Given the description of an element on the screen output the (x, y) to click on. 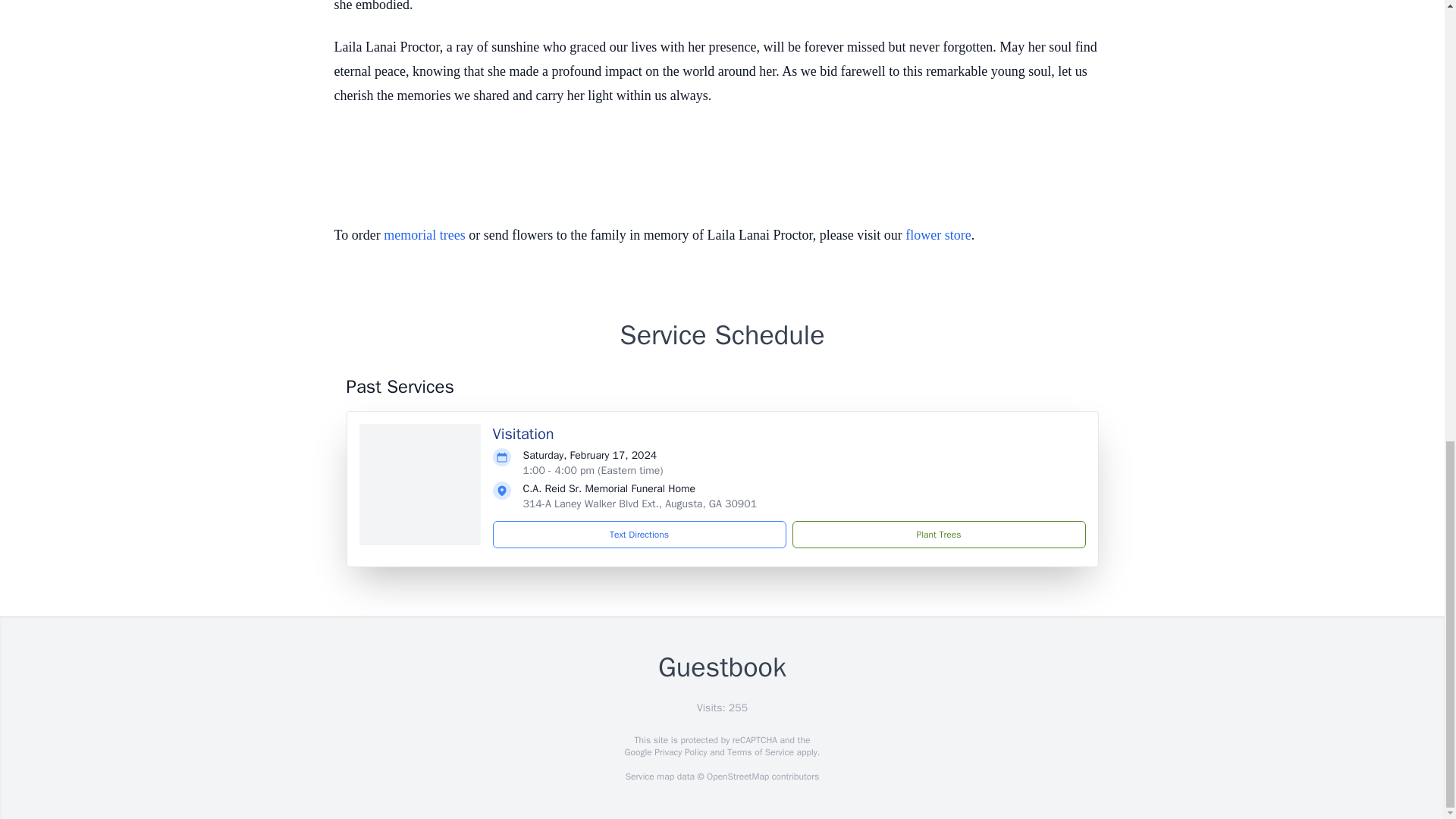
Terms of Service (759, 752)
OpenStreetMap (737, 776)
flower store (938, 234)
314-A Laney Walker Blvd Ext., Augusta, GA 30901 (639, 503)
Plant Trees (938, 533)
Privacy Policy (679, 752)
Text Directions (639, 533)
memorial trees (424, 234)
